Given the description of an element on the screen output the (x, y) to click on. 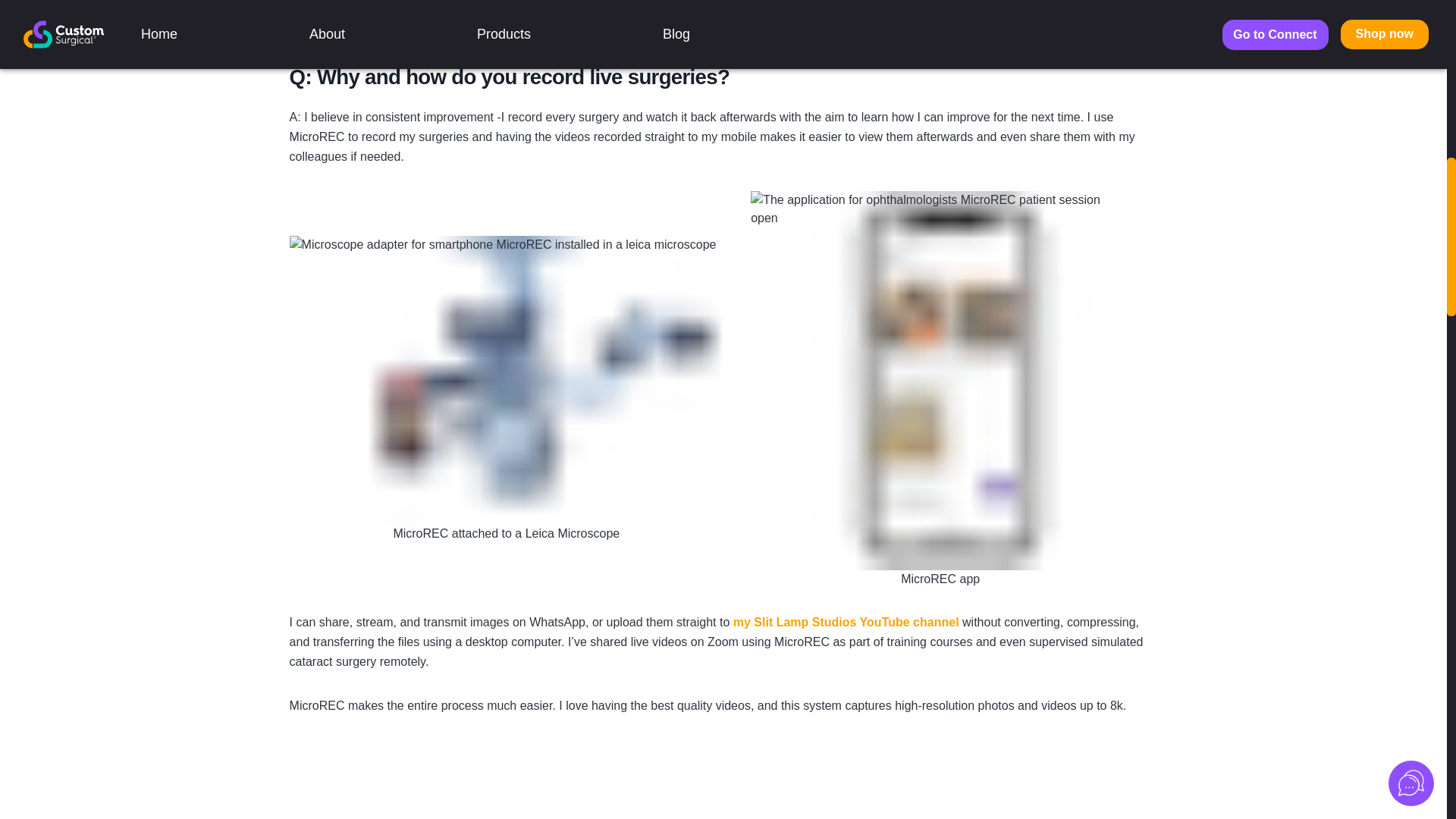
YouTube video player (723, 779)
my Slit Lamp Studios YouTube channel (846, 621)
